Given the description of an element on the screen output the (x, y) to click on. 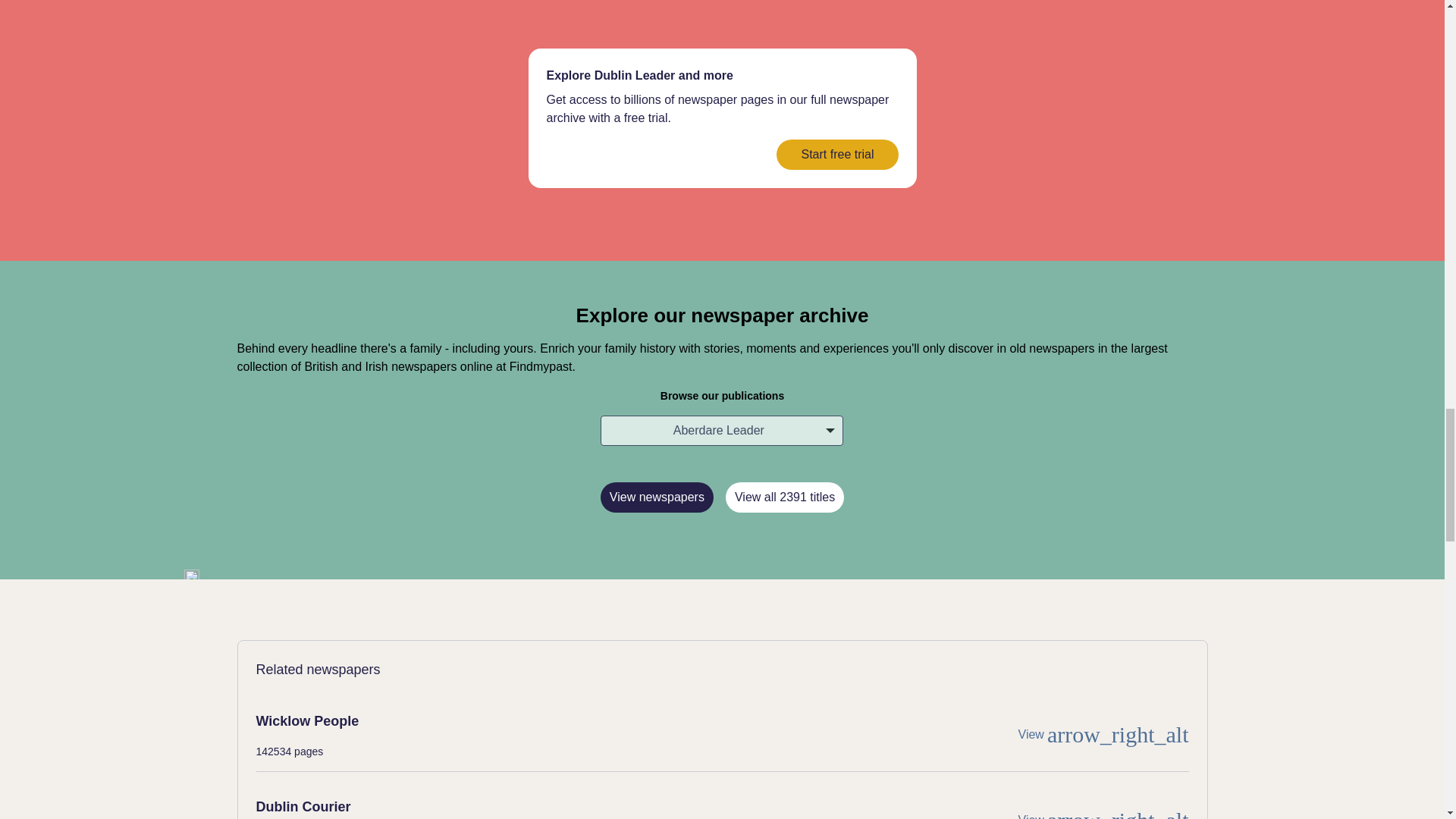
Start free trial (837, 154)
View all 2391 titles (784, 497)
View newspapers (656, 497)
